Given the description of an element on the screen output the (x, y) to click on. 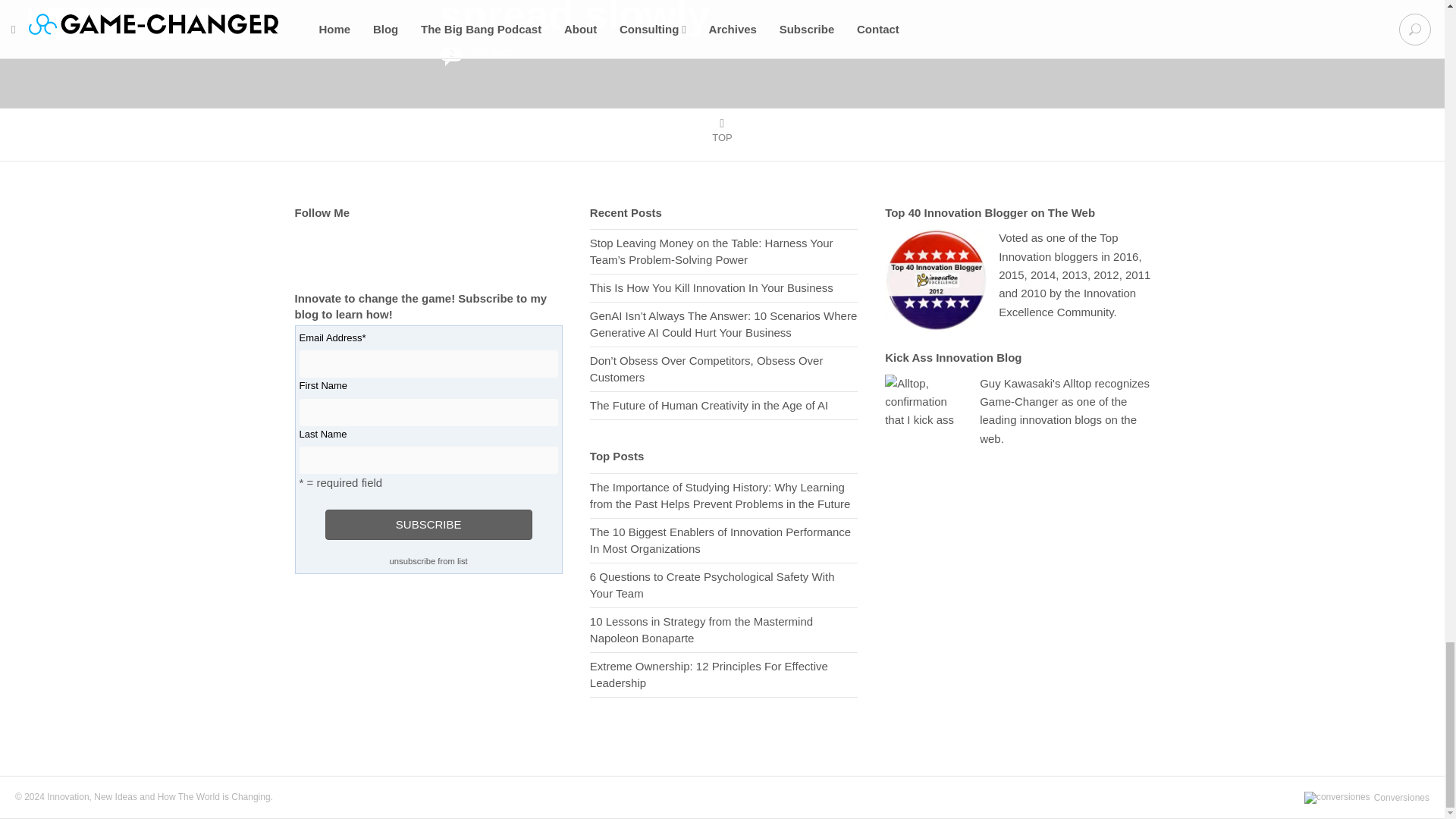
Subscribe (428, 523)
2011 (1137, 274)
conversiones (1337, 797)
2012 (1105, 274)
2010 (1032, 292)
